Given the description of an element on the screen output the (x, y) to click on. 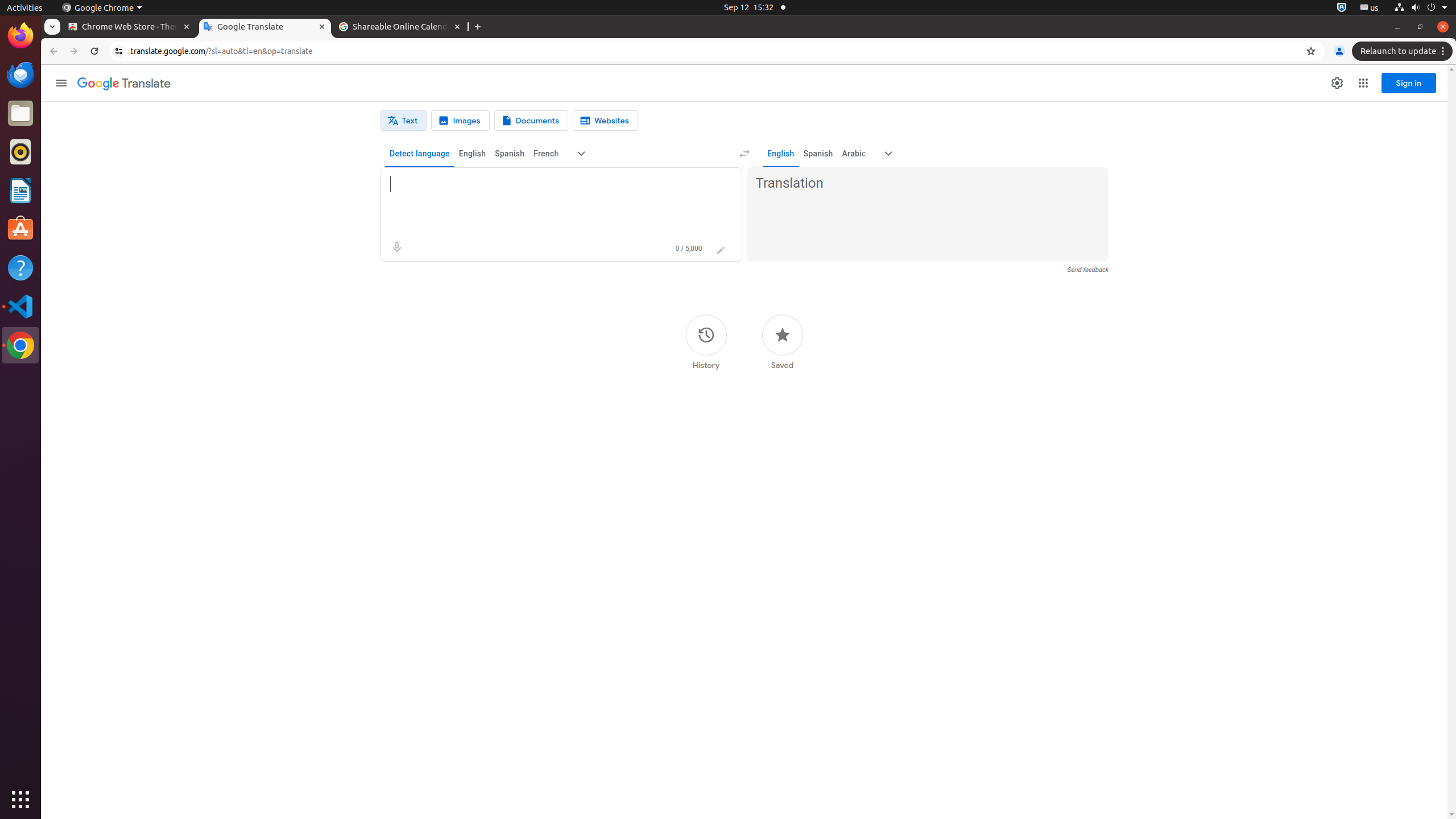
Visual Studio Code Element type: push-button (20, 306)
Forward Element type: push-button (73, 50)
View site information Element type: push-button (118, 51)
Saved Element type: link (782, 342)
Google apps Element type: push-button (1362, 82)
